Given the description of an element on the screen output the (x, y) to click on. 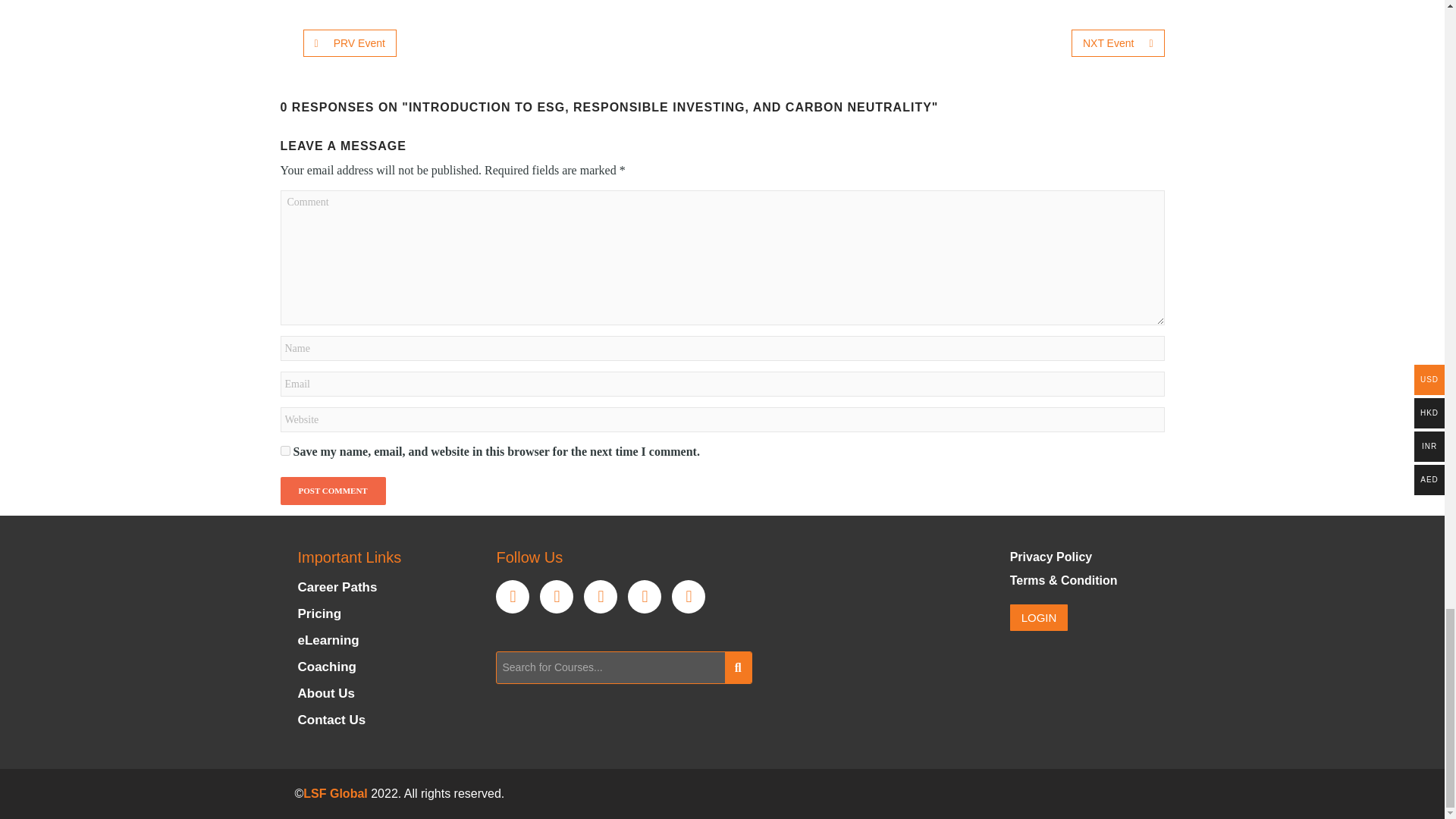
Post Comment (333, 491)
Search (609, 667)
yes (285, 450)
